Given the description of an element on the screen output the (x, y) to click on. 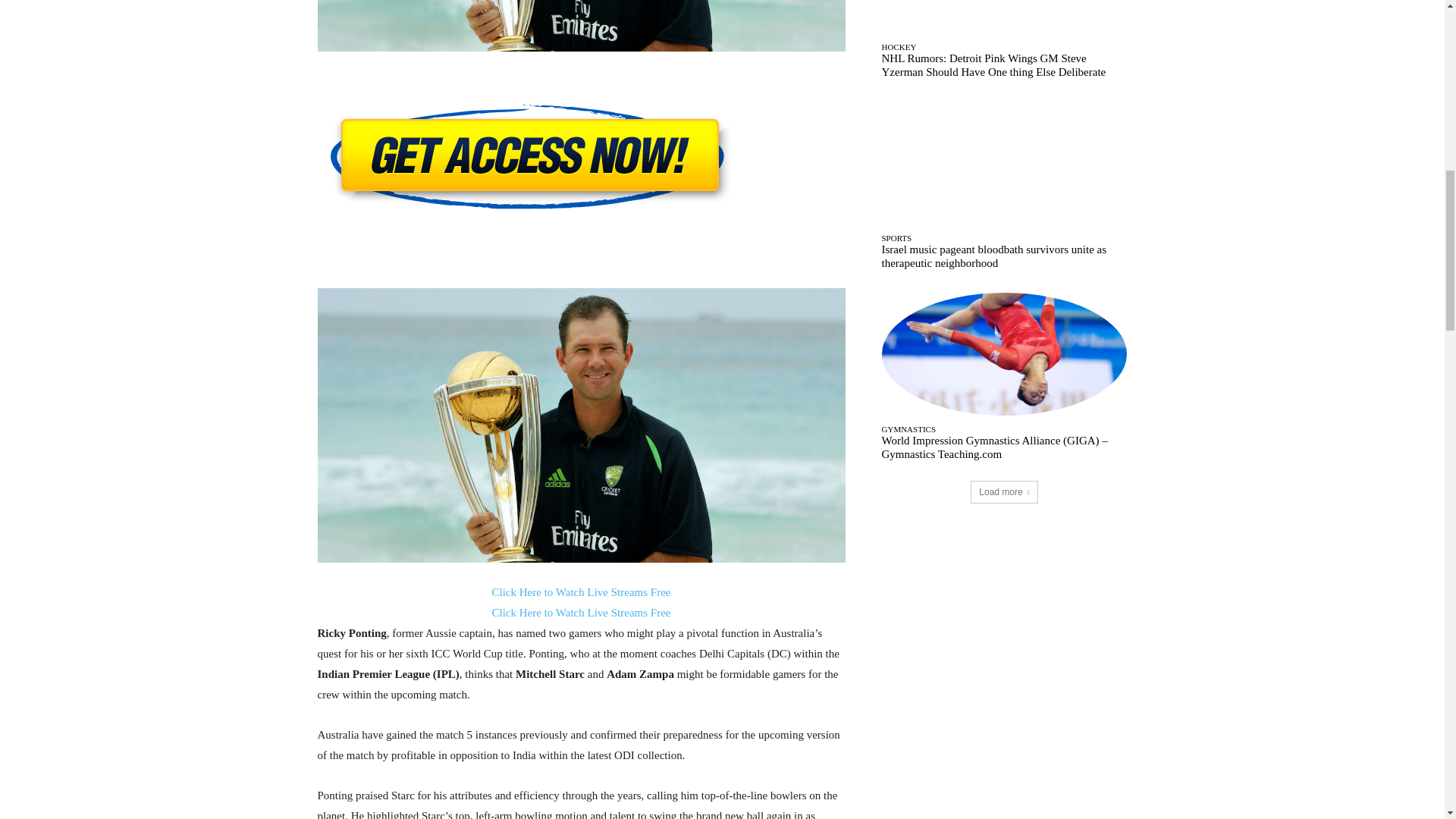
Watch Now Free (580, 158)
